Given the description of an element on the screen output the (x, y) to click on. 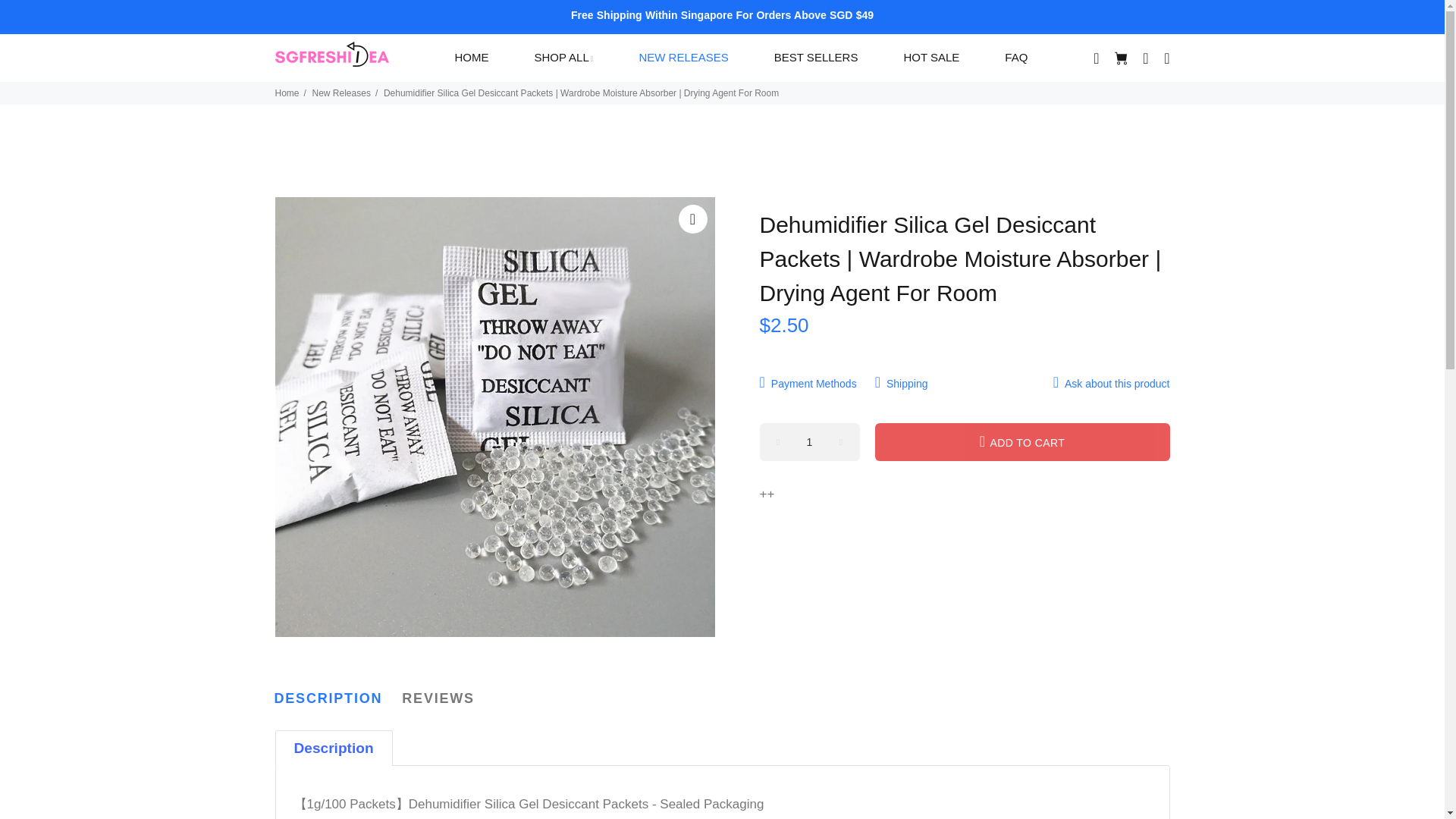
HOT SALE (930, 57)
HOME (478, 57)
NEW RELEASES (683, 57)
BEST SELLERS (815, 57)
SHOP ALL (563, 57)
1 (810, 442)
FAQ (1004, 57)
